Given the description of an element on the screen output the (x, y) to click on. 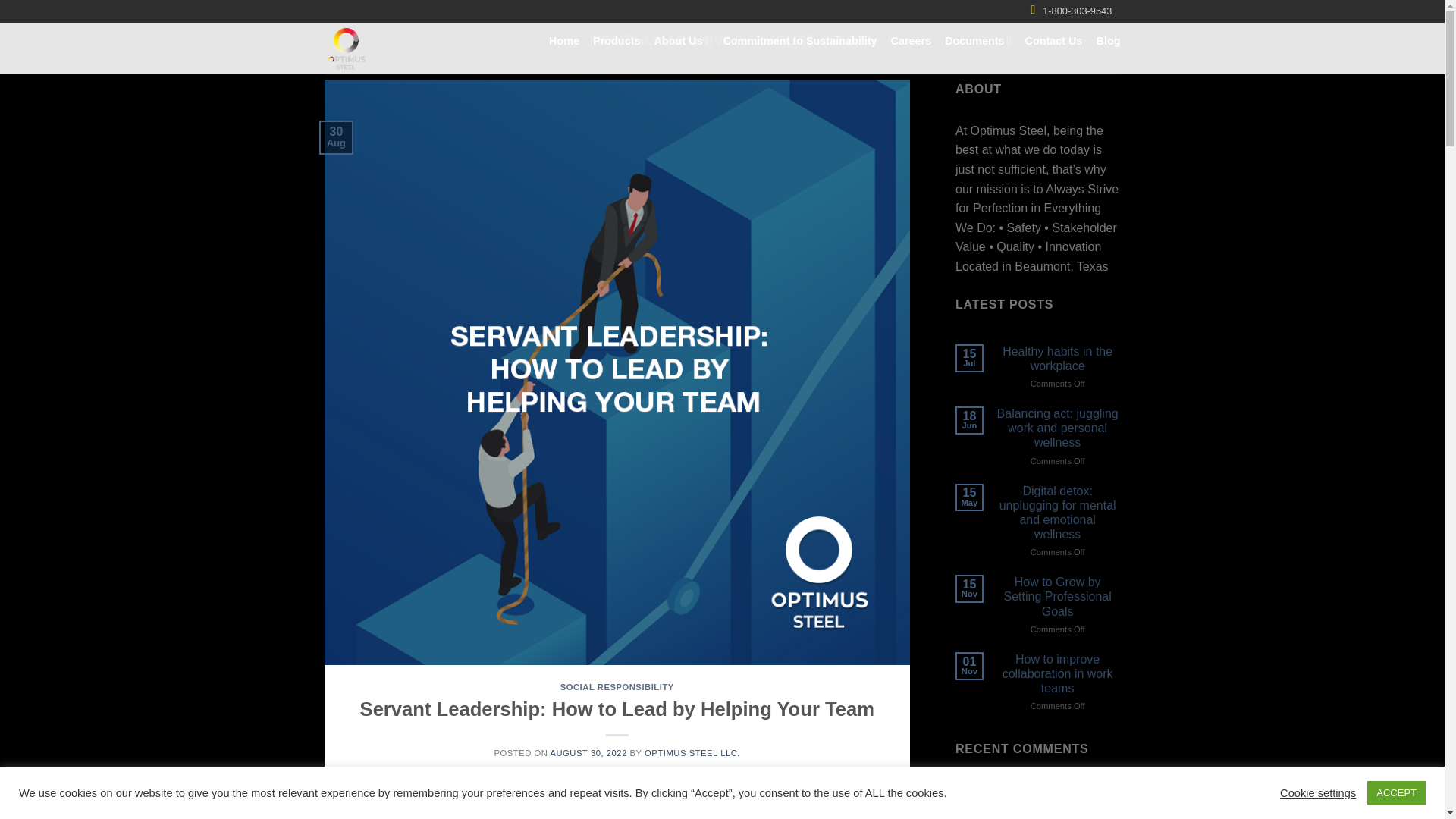
Careers (911, 41)
How to improve collaboration in work teams (1057, 673)
Servant Leadership: How to Lead by Helping Your Team (617, 708)
Contact Us (1054, 41)
Healthy habits in the workplace (1057, 358)
Documents (977, 41)
OPTIMUS STEEL LLC. (692, 752)
Commitment to Sustainability (799, 41)
Home (563, 41)
How to Grow by Setting Professional Goals (1057, 596)
About Us (681, 41)
AUGUST 30, 2022 (588, 752)
Balancing act: juggling work and personal wellness (1057, 428)
Digital detox: unplugging for mental and emotional wellness (1057, 513)
Optimus LLC - Optimus LLC (389, 48)
